Given the description of an element on the screen output the (x, y) to click on. 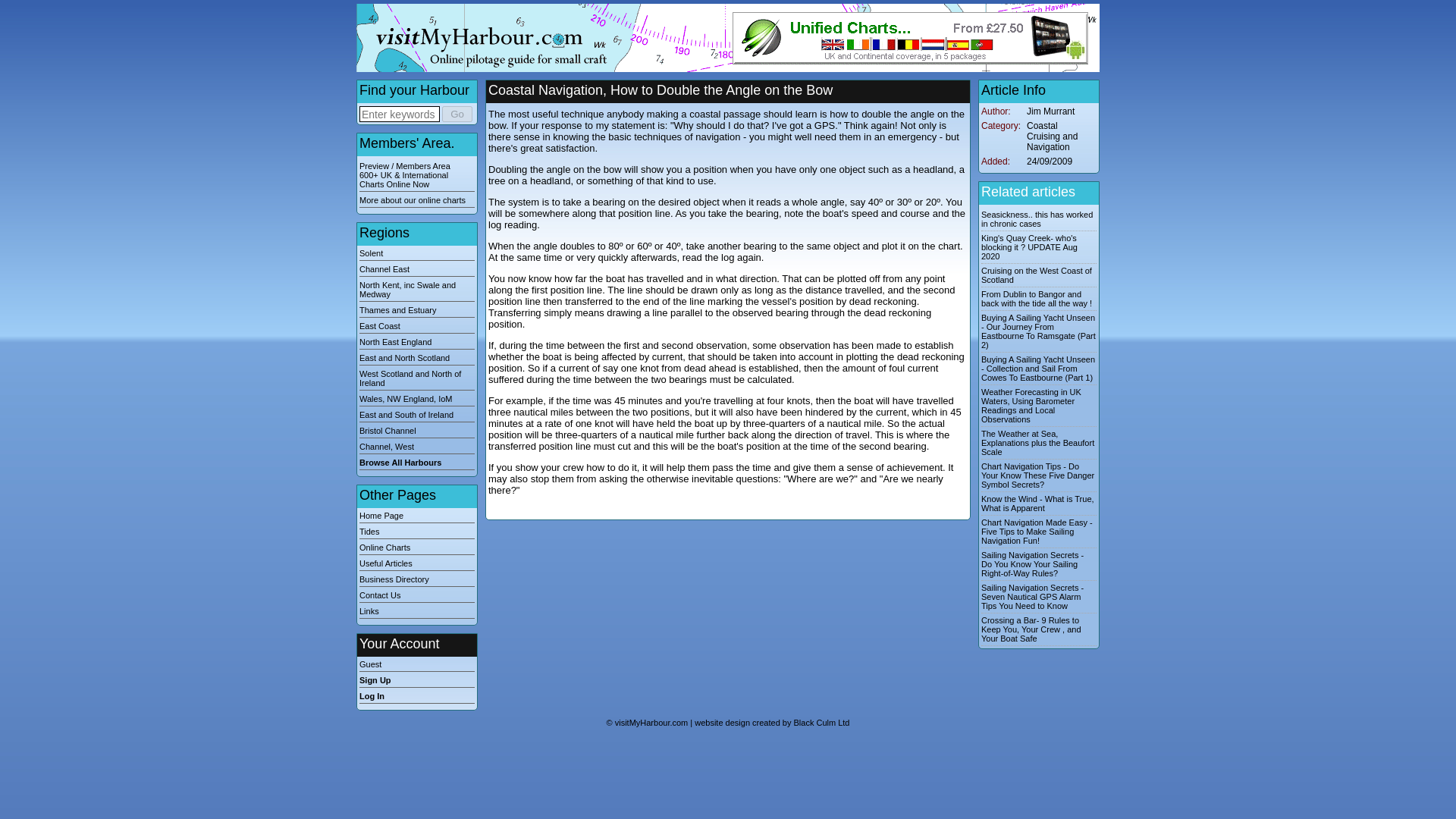
King's Quay Creek- who's blocking it ? UPDATE Aug 2020 (1029, 247)
Browse All Harbours (416, 463)
Online Charts (416, 548)
Wales, NW England, IoM (416, 399)
East Coast (416, 327)
East and North Scotland (416, 358)
Log In (416, 697)
North East England (416, 343)
Home Page (416, 517)
Channel, West (416, 448)
Thames and Estuary (416, 311)
Tides (416, 532)
More about our online charts (416, 201)
Sign Up (416, 681)
